Given the description of an element on the screen output the (x, y) to click on. 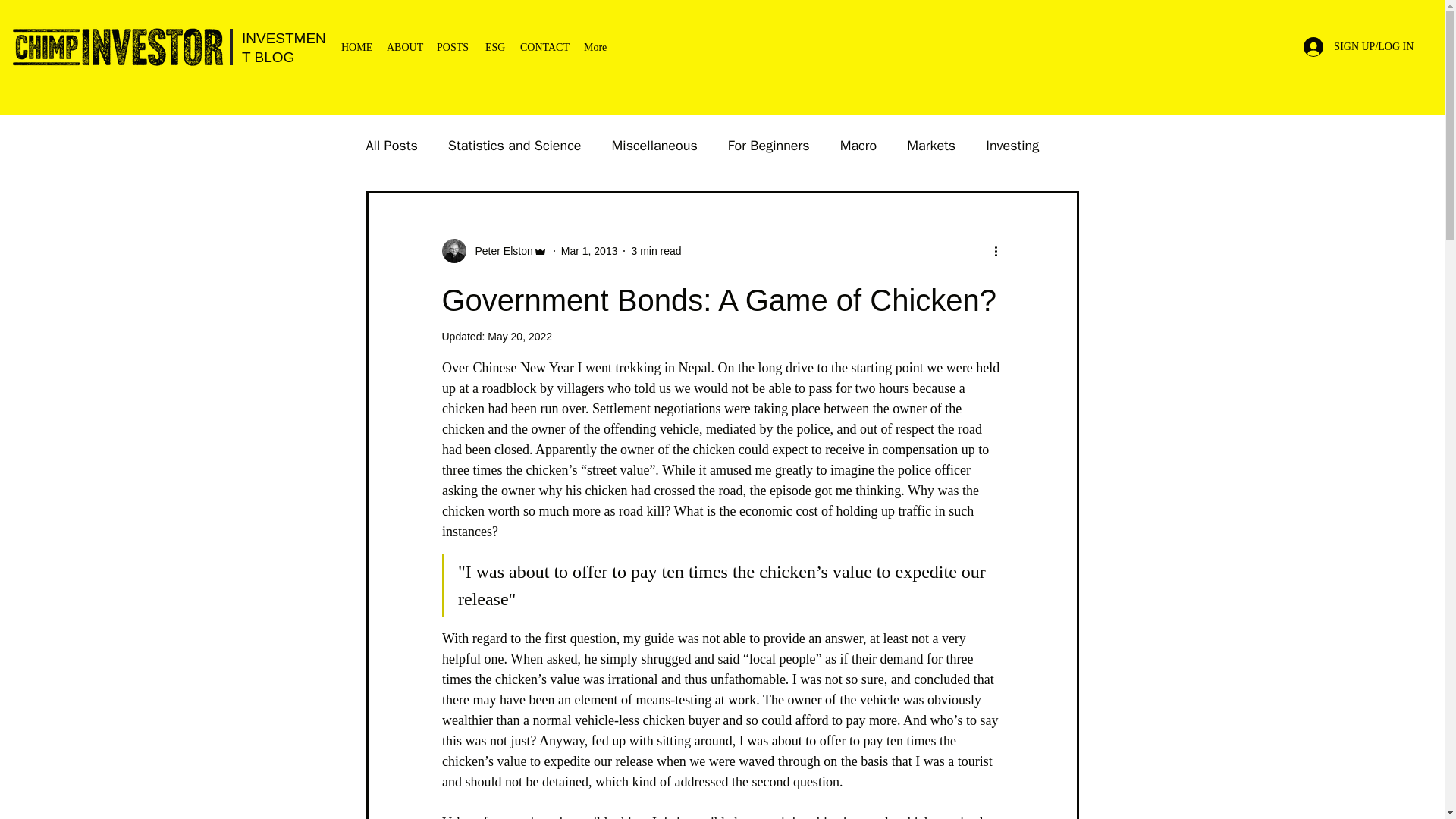
Investing (1012, 145)
ESG (494, 47)
Mar 1, 2013 (588, 250)
3 min read (655, 250)
Statistics and Science (514, 145)
POSTS (453, 47)
Markets (931, 145)
Peter Elston (498, 251)
All Posts (390, 145)
HOME (355, 47)
May 20, 2022 (519, 336)
ABOUT (403, 47)
CONTACT (544, 47)
Miscellaneous (654, 145)
For Beginners (768, 145)
